Given the description of an element on the screen output the (x, y) to click on. 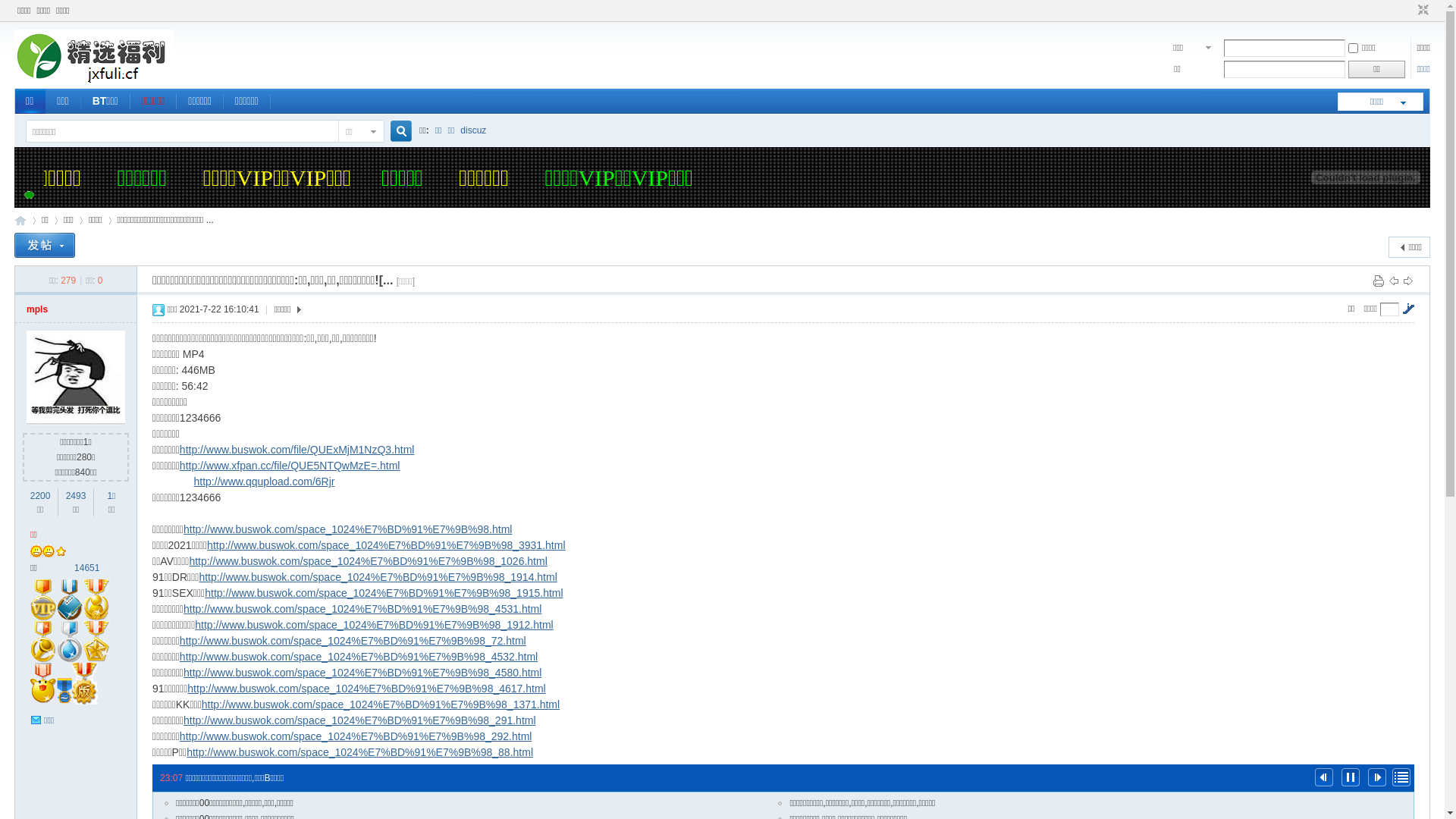
http://www.buswok.com/space_1024%E7%BD%91%E7%9B%98_1371.html Element type: text (380, 704)
http://www.buswok.com/space_1024%E7%BD%91%E7%9B%98_88.html Element type: text (359, 752)
http://www.qqupload.com/6Rjr Element type: text (264, 481)
http://www.buswok.com/space_1024%E7%BD%91%E7%9B%98_4580.html Element type: text (362, 672)
http://www.xfpan.cc/file/QUE5NTQwMzE=.html Element type: text (289, 465)
http://www.buswok.com/space_1024%E7%BD%91%E7%9B%98_292.html Element type: text (355, 736)
14651 Element type: text (86, 567)
http://www.buswok.com/space_1024%E7%BD%91%E7%9B%98_1026.html Element type: text (367, 561)
http://www.buswok.com/space_1024%E7%BD%91%E7%9B%98_4617.html Element type: text (366, 688)
discuz Element type: text (473, 130)
mpls Element type: text (36, 309)
http://www.buswok.com/space_1024%E7%BD%91%E7%9B%98_72.html Element type: text (352, 640)
true Element type: text (395, 131)
http://www.buswok.com/space_1024%E7%BD%91%E7%9B%98_291.html Element type: text (359, 720)
http://www.buswok.com/file/QUExMjM1NzQ3.html Element type: text (296, 449)
http://www.buswok.com/space_1024%E7%BD%91%E7%9B%98_1915.html Element type: text (383, 592)
http://www.buswok.com/space_1024%E7%BD%91%E7%9B%98.html Element type: text (347, 529)
2200 Element type: text (40, 495)
http://www.buswok.com/space_1024%E7%BD%91%E7%9B%98_1912.html Element type: text (373, 624)
http://www.buswok.com/space_1024%E7%BD%91%E7%9B%98_1914.html Element type: text (377, 577)
http://www.buswok.com/space_1024%E7%BD%91%E7%9B%98_3931.html Element type: text (385, 545)
http://www.buswok.com/space_1024%E7%BD%91%E7%9B%98_4531.html Element type: text (362, 608)
2493 Element type: text (75, 495)
http://www.buswok.com/space_1024%E7%BD%91%E7%9B%98_4532.html Element type: text (358, 656)
